Given the description of an element on the screen output the (x, y) to click on. 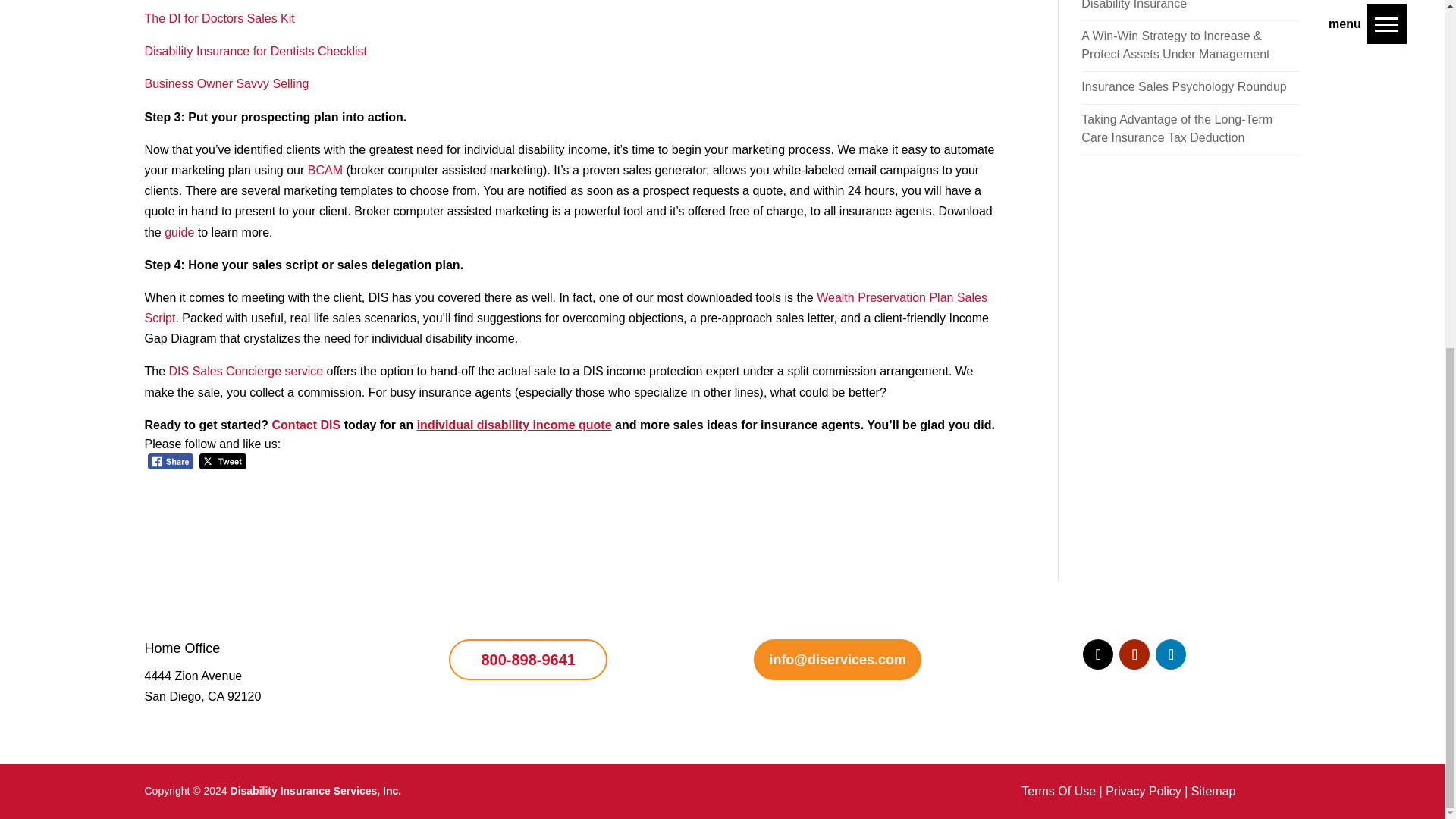
Follow on LinkedIn (1171, 654)
Contact DIS (306, 424)
Follow on X (1098, 654)
guide (178, 231)
individual disability income quote (513, 424)
The DI for Doctors Sales Kit (219, 18)
BCAM (324, 169)
Facebook Share (170, 461)
Wealth Preservation Plan Sales Script (565, 307)
Tweet (222, 461)
